Given the description of an element on the screen output the (x, y) to click on. 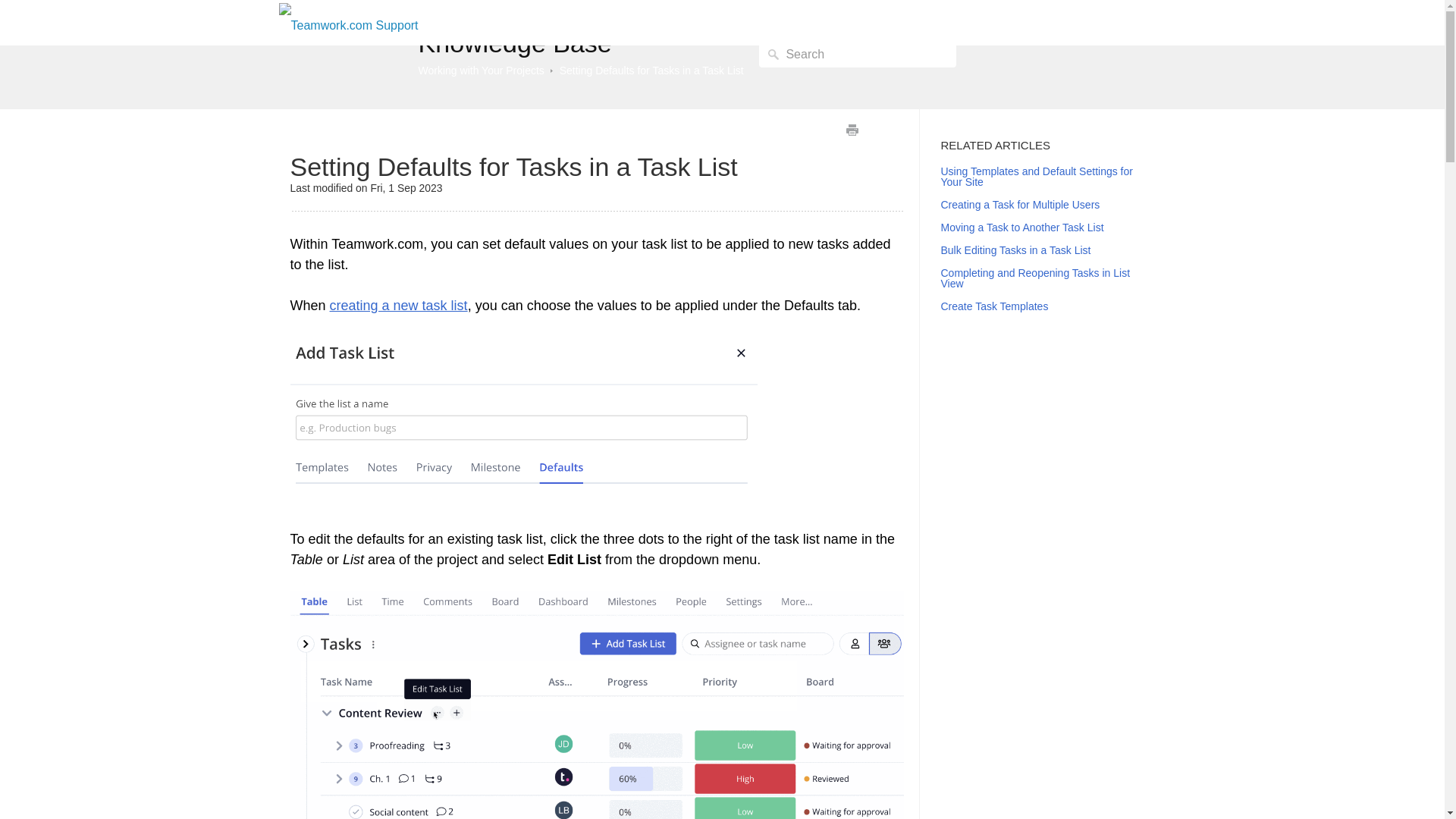
Print this article (851, 129)
Bulk Editing Tasks in a Task List (1015, 250)
Completing and Reopening Tasks in List View (1034, 277)
Create Task Templates (994, 306)
Creating a Task for Multiple Users (1019, 204)
Print (851, 129)
Knowledge Base (515, 42)
Moving a Task to Another Task List (1021, 227)
Working with Your Projects (481, 70)
Using Templates and Default Settings for Your Site (1036, 176)
